Given the description of an element on the screen output the (x, y) to click on. 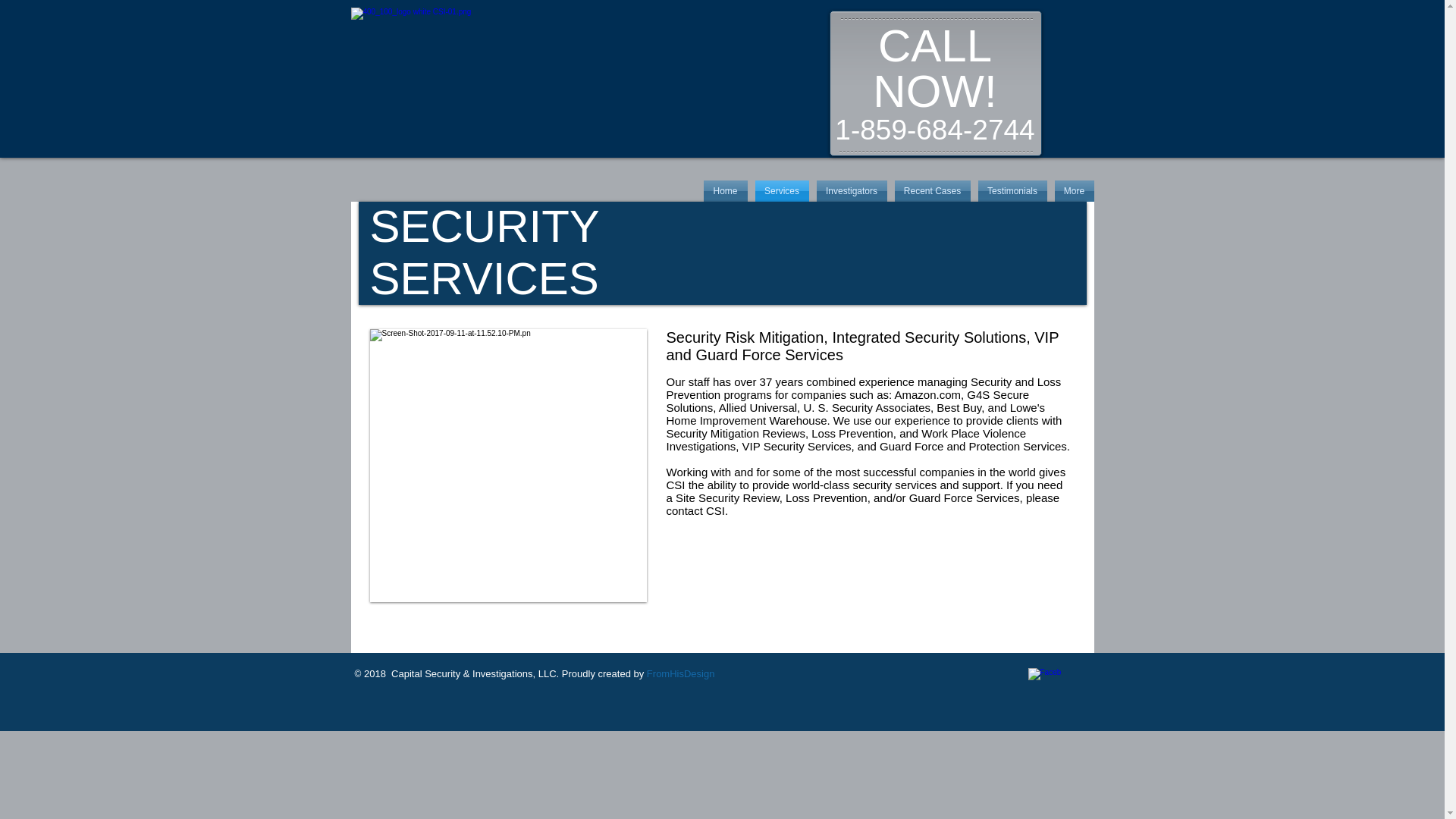
FromHisDesign (680, 673)
Proudly created by (602, 673)
Home (727, 190)
Testimonials (1011, 190)
Recent Cases (931, 190)
Services (781, 190)
Investigators (851, 190)
